Given the description of an element on the screen output the (x, y) to click on. 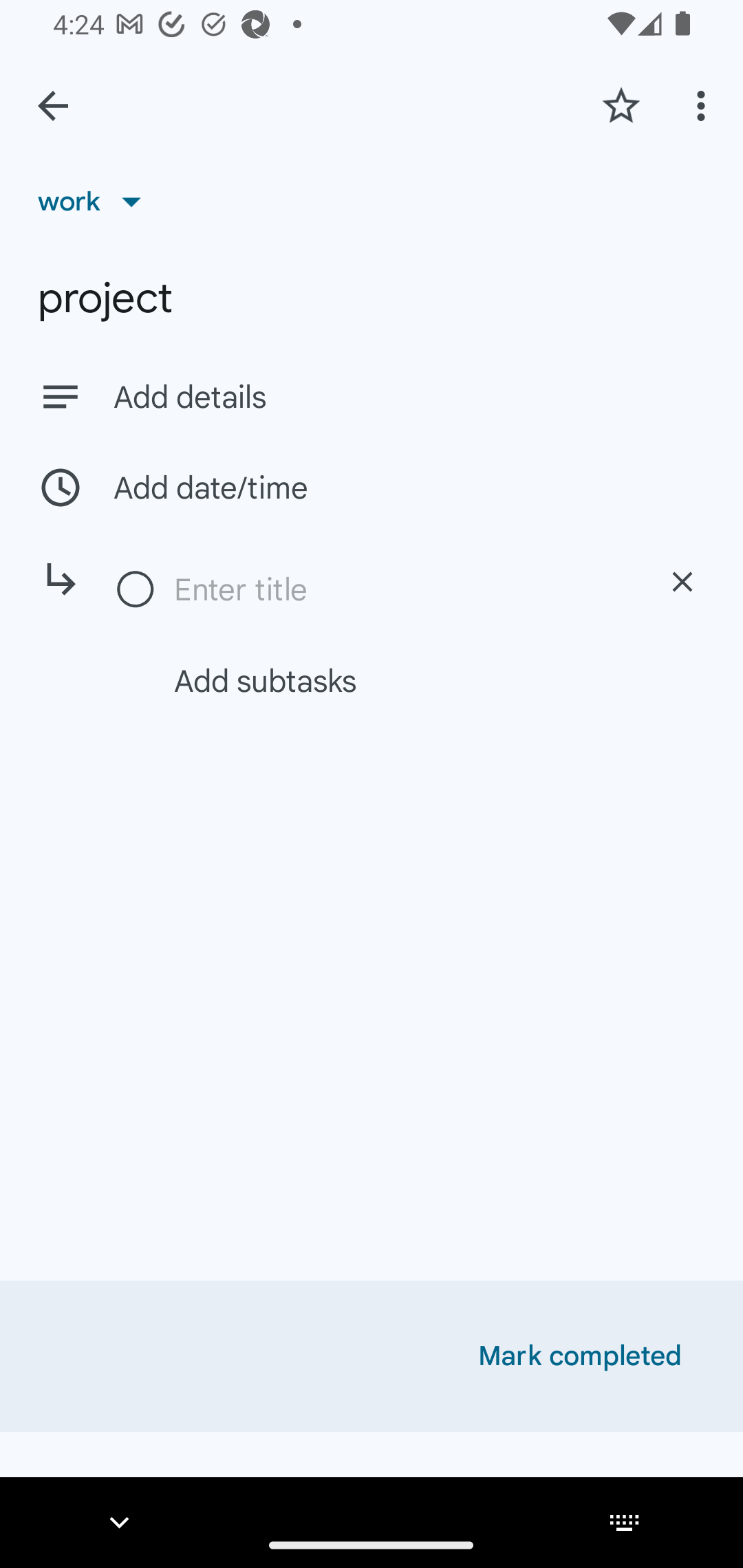
Back (53, 105)
Add star (620, 105)
More options (704, 105)
work List, work selected, 1 of 15 (95, 201)
project (371, 298)
Add details (371, 396)
Add details (409, 397)
Add date/time (371, 487)
Enter title (401, 589)
Delete subtask (682, 581)
Mark as complete (136, 590)
Add subtasks (394, 680)
Mark completed (580, 1355)
